Given the description of an element on the screen output the (x, y) to click on. 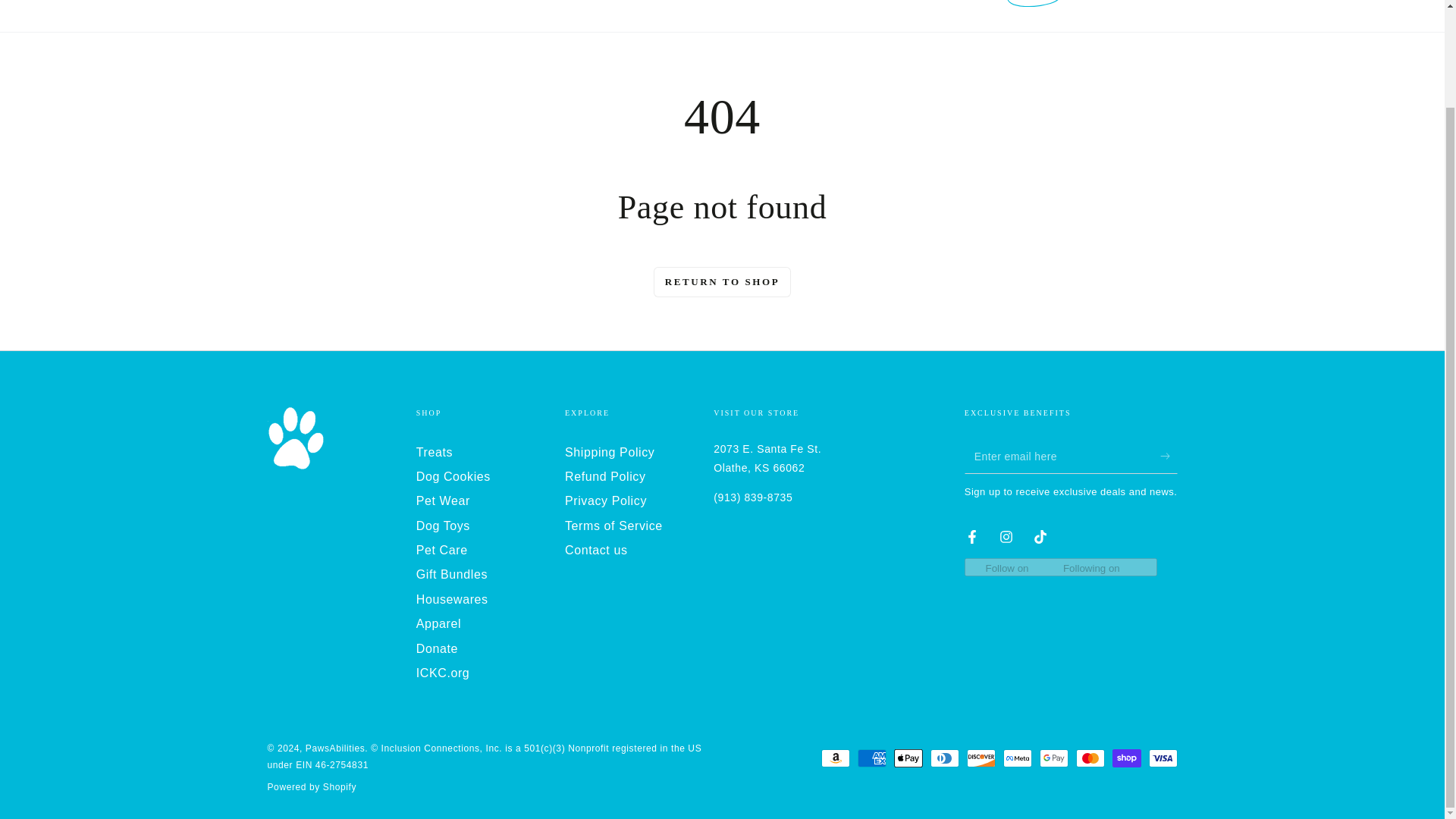
APPAREL (951, 5)
HOUSEWARES (860, 5)
Dog Toys (443, 525)
RETURN TO SHOP (722, 281)
DONATE (1034, 5)
Gift Bundles (451, 574)
Dog Cookies (453, 476)
DOG TOYS (582, 5)
Pet Care (441, 549)
ICKC.ORG (1120, 5)
DOG COOKIES (405, 5)
TREATS (318, 5)
Pet Wear (443, 500)
Treats (434, 451)
PET CARE (665, 5)
